Given the description of an element on the screen output the (x, y) to click on. 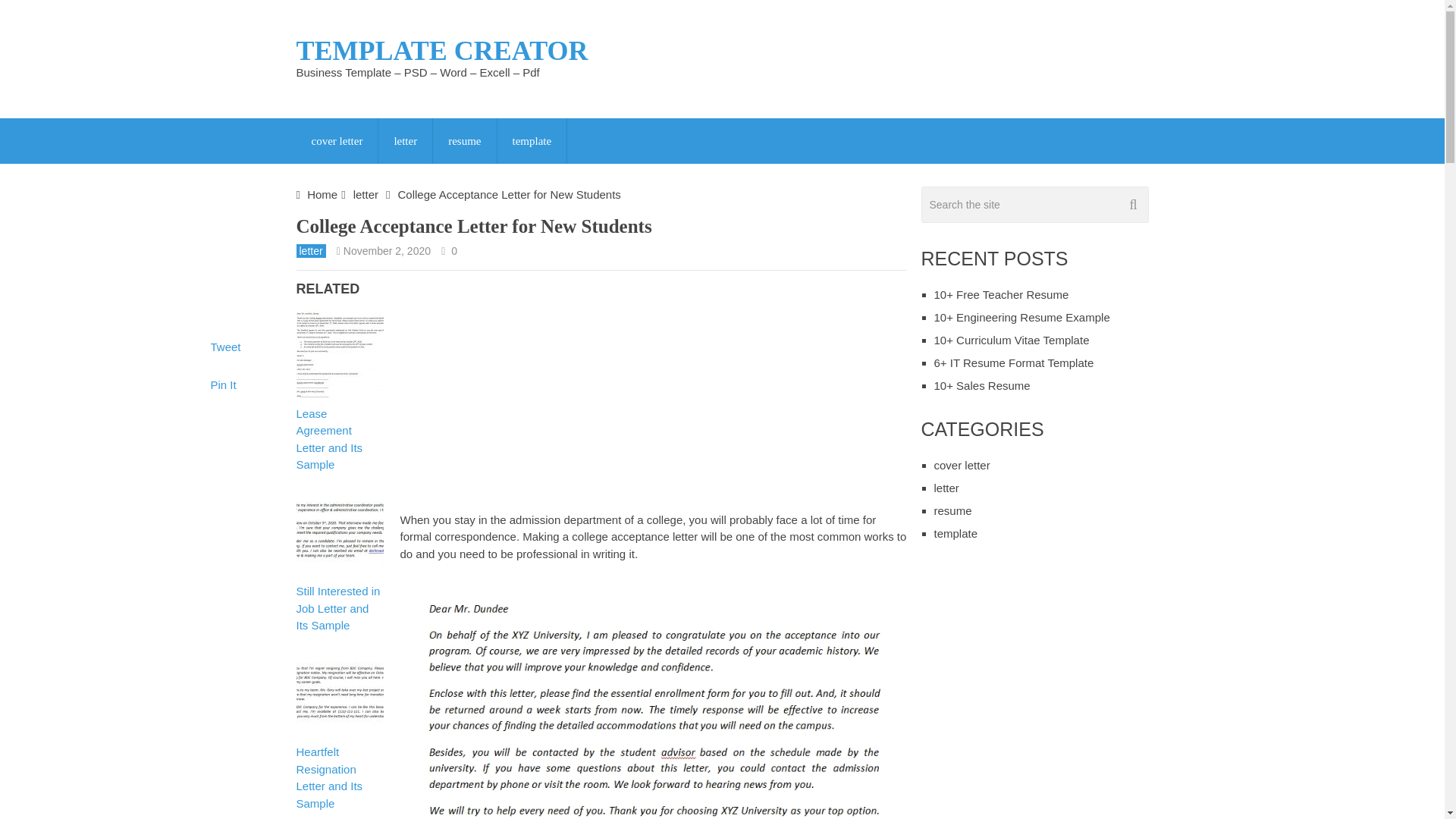
Heartfelt Resignation Letter and Its Sample (338, 768)
letter (365, 194)
Still Interested in Job Letter and Its Sample (338, 600)
template (532, 140)
Tweet (226, 346)
letter (309, 250)
Home (322, 194)
Advertisement (527, 394)
View all posts in letter (309, 250)
Lease Agreement Letter and Its Sample (338, 429)
Pin It (223, 384)
TEMPLATE CREATOR (441, 50)
0 (454, 250)
cover letter (336, 140)
resume (464, 140)
